Given the description of an element on the screen output the (x, y) to click on. 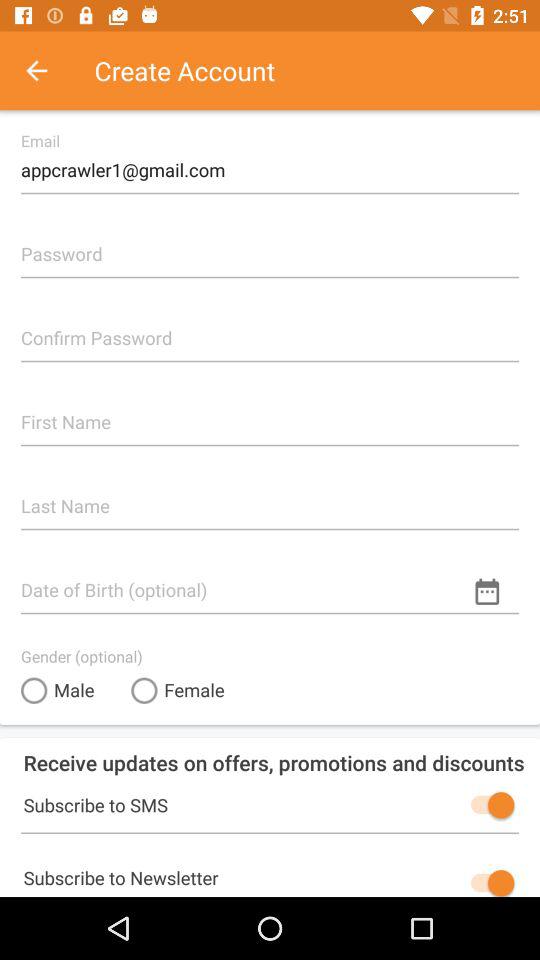
tap icon below gender (optional) item (57, 690)
